Given the description of an element on the screen output the (x, y) to click on. 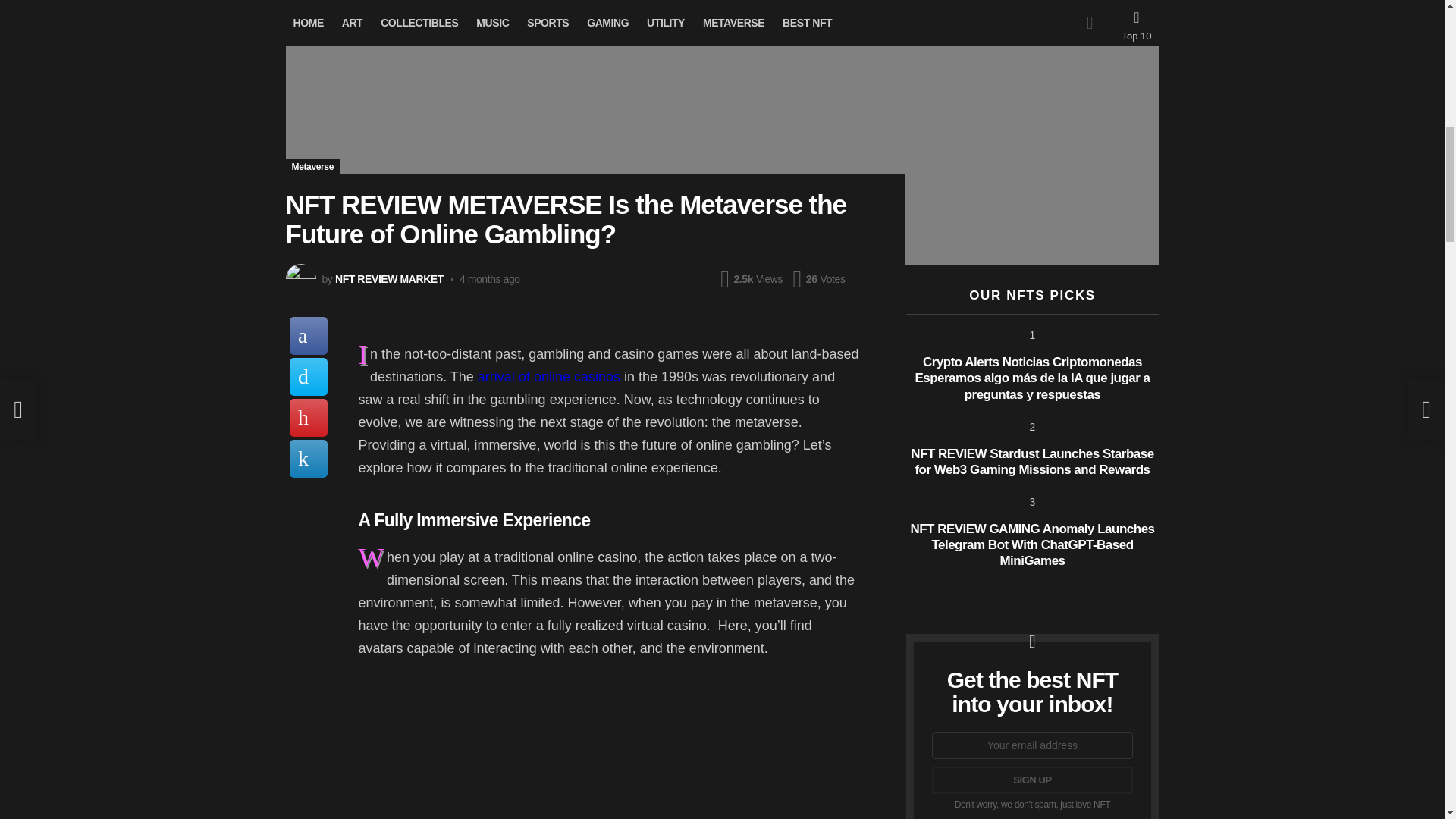
Sign up (1031, 779)
